Given the description of an element on the screen output the (x, y) to click on. 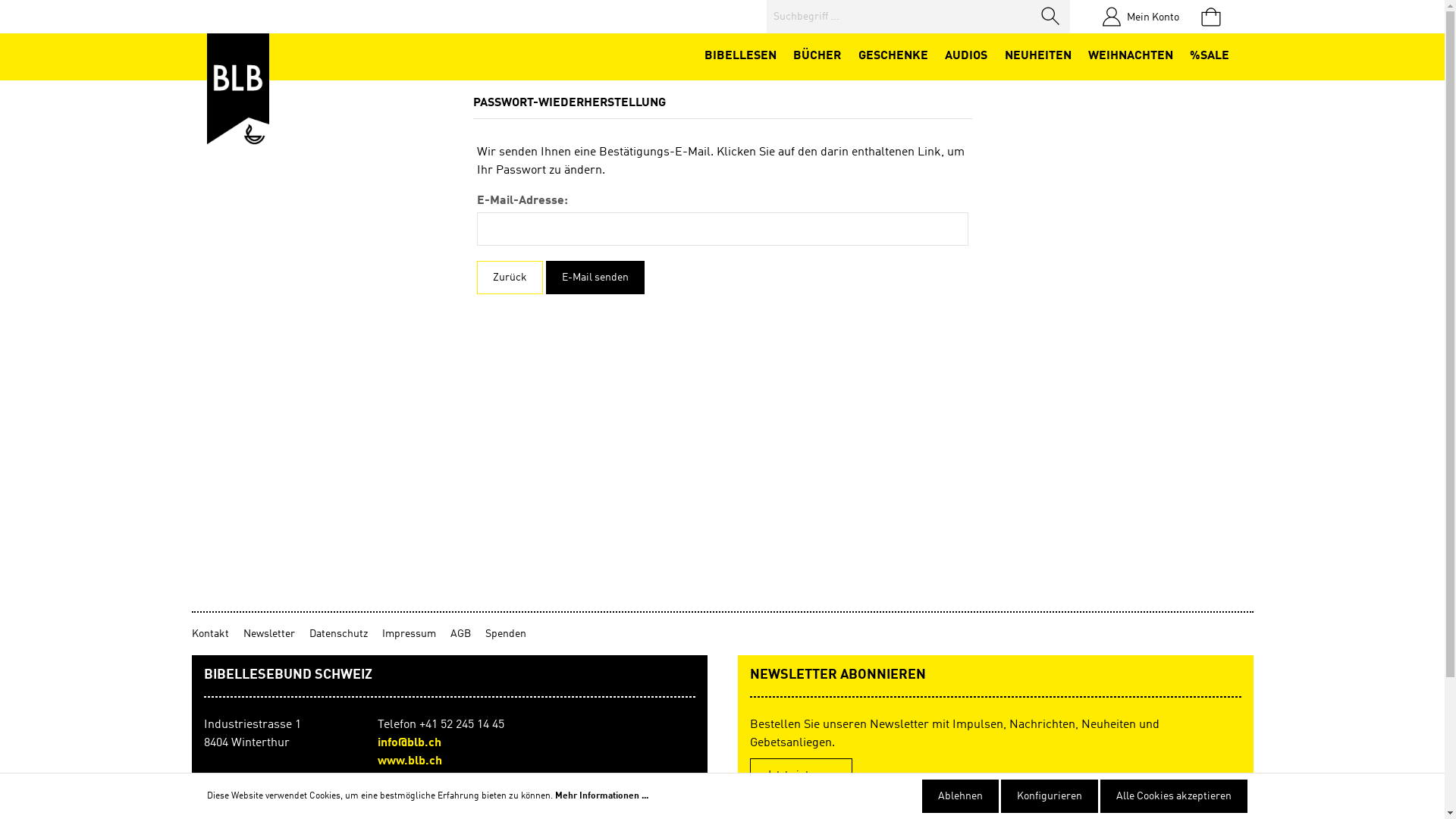
BIBELLESEN Element type: text (740, 56)
AGB Element type: text (467, 633)
Newsletter Element type: text (275, 633)
info@blb.ch Element type: text (409, 743)
GESCHENKE Element type: text (893, 56)
WEIHNACHTEN Element type: text (1130, 56)
E-Mail senden Element type: text (595, 277)
Spenden Element type: text (505, 633)
Warenkorb Element type: hover (1210, 16)
%SALE Element type: text (1209, 56)
AUDIOS Element type: text (965, 56)
Kontakt Element type: text (216, 633)
www.blb.ch Element type: text (409, 761)
Zur Startseite wechseln Element type: hover (237, 88)
Jetzt eintragen Element type: text (800, 774)
Konfigurieren Element type: text (1049, 795)
Datenschutz Element type: text (345, 633)
Impressum Element type: text (416, 633)
NEUHEITEN Element type: text (1037, 56)
Alle Cookies akzeptieren Element type: text (1172, 795)
Ablehnen Element type: text (960, 795)
Mehr Informationen ... Element type: text (601, 796)
Kontaktformular Element type: text (341, 785)
